Given the description of an element on the screen output the (x, y) to click on. 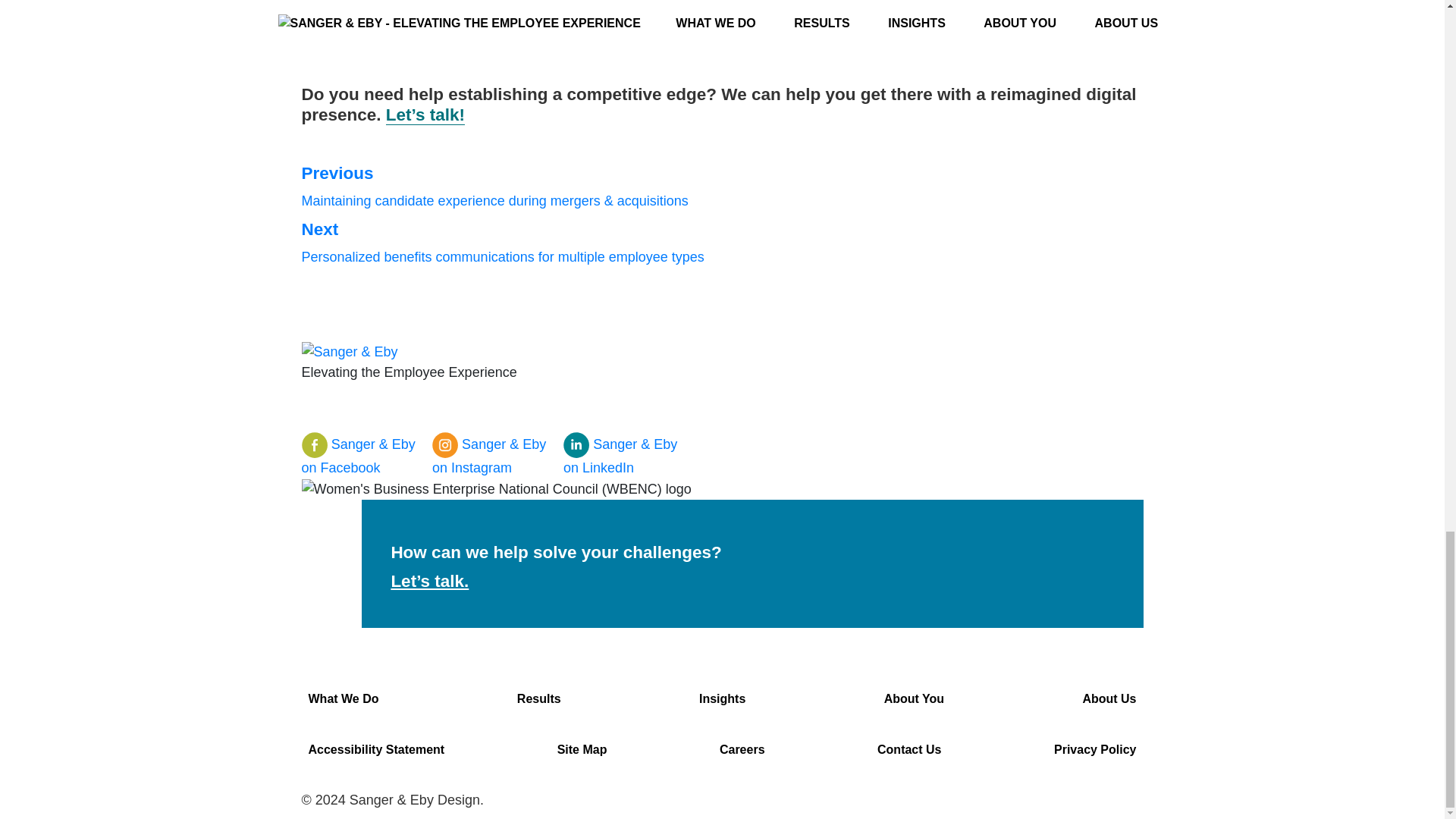
About Us (1108, 698)
Results (538, 698)
Contact (429, 580)
Accessibility Statement (375, 748)
Insights (721, 698)
Contact Us (908, 748)
Careers (742, 748)
Privacy Policy (1095, 748)
About You (913, 698)
Site Map (582, 748)
